Given the description of an element on the screen output the (x, y) to click on. 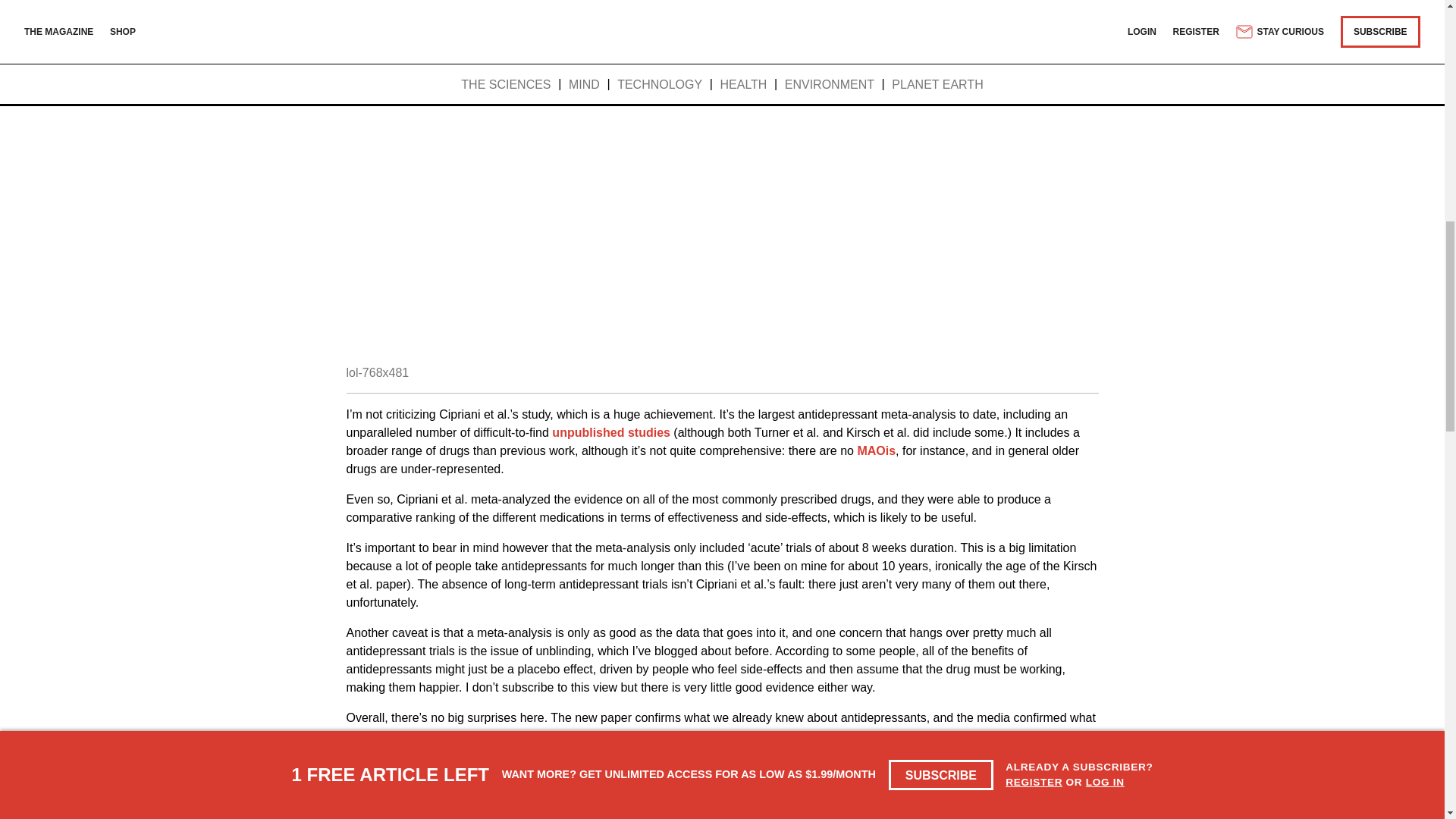
unpublished studies (610, 431)
MAOis (876, 450)
